Given the description of an element on the screen output the (x, y) to click on. 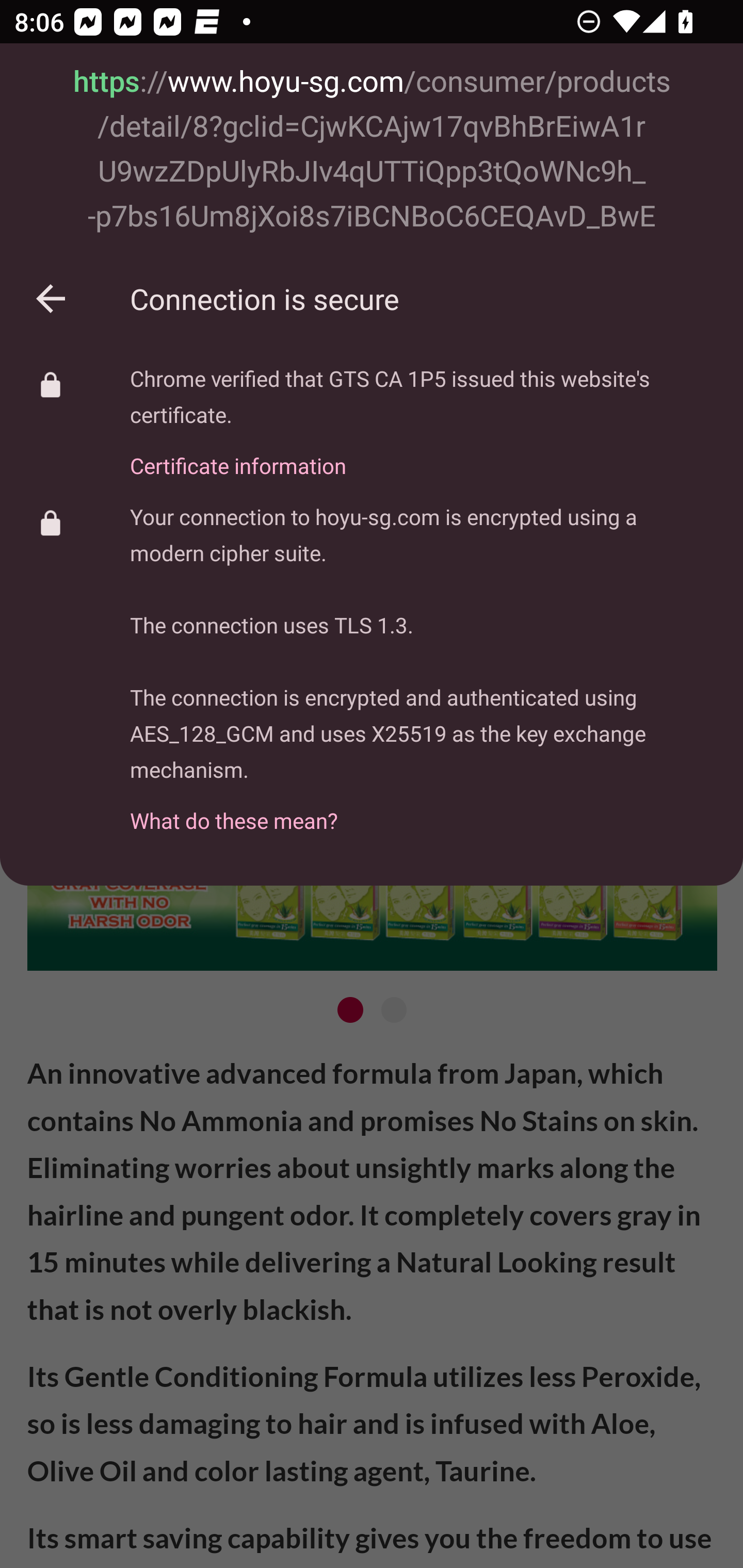
Back (50, 298)
Certificate information (422, 454)
What do these mean? (422, 809)
